Given the description of an element on the screen output the (x, y) to click on. 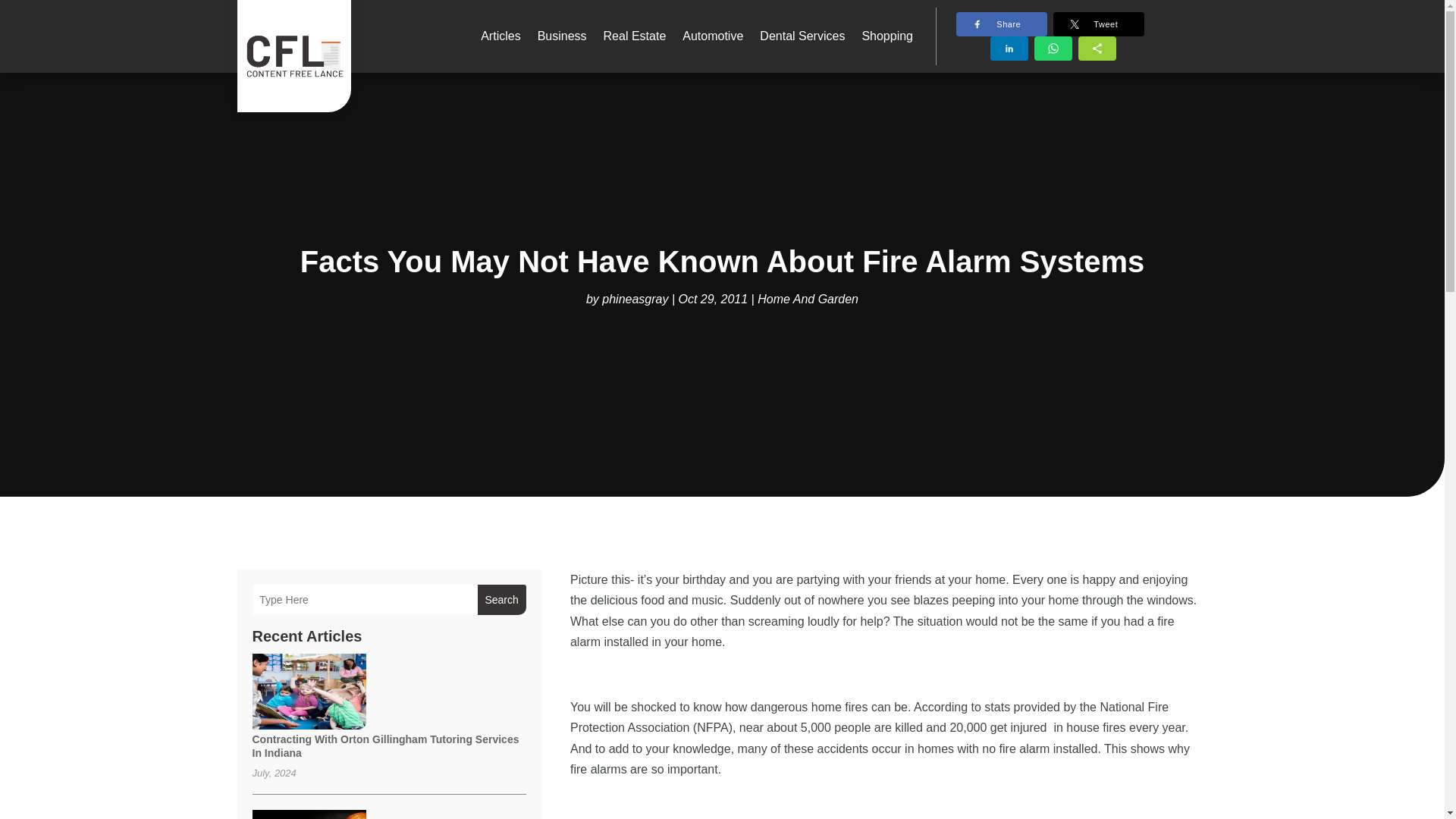
Articles (499, 36)
Real Estate (635, 36)
Posts by phineasgray (635, 298)
Shopping (886, 36)
Dental Services (802, 36)
Business (561, 36)
Home And Garden (808, 298)
Automotive (712, 36)
Search (501, 599)
phineasgray (635, 298)
